Given the description of an element on the screen output the (x, y) to click on. 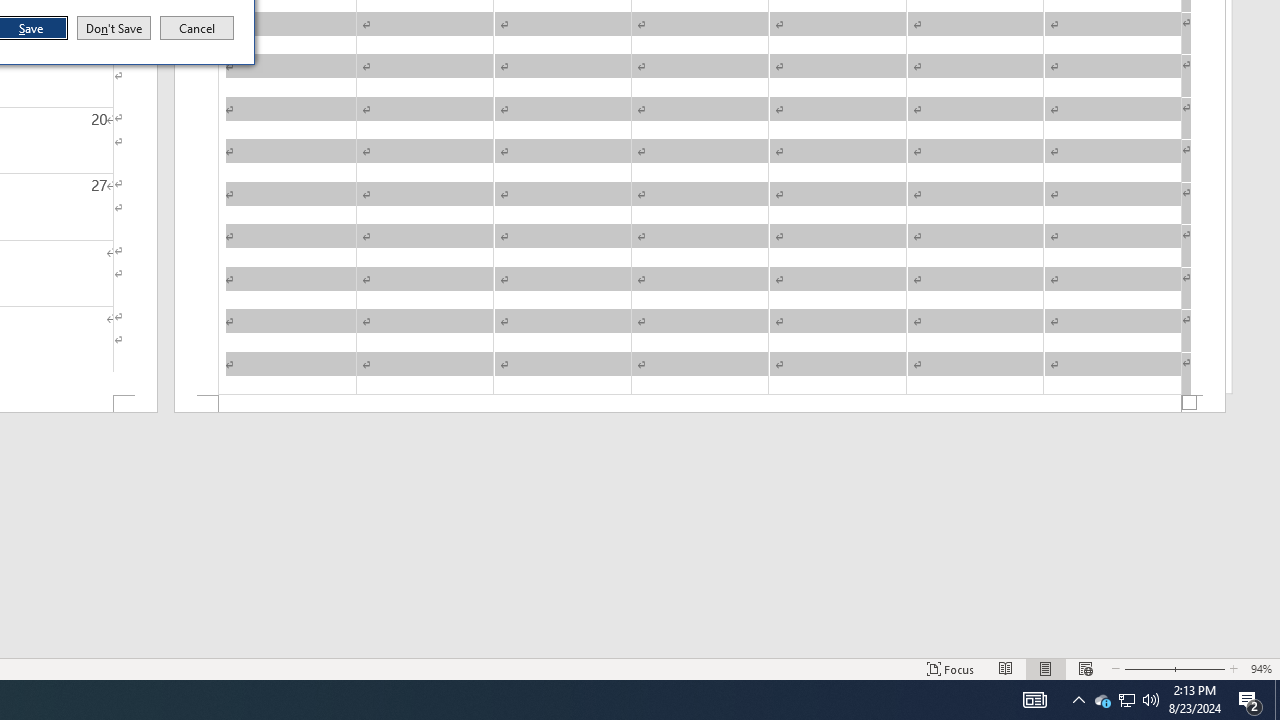
Action Center, 2 new notifications (1126, 699)
User Promoted Notification Area (1250, 699)
